Given the description of an element on the screen output the (x, y) to click on. 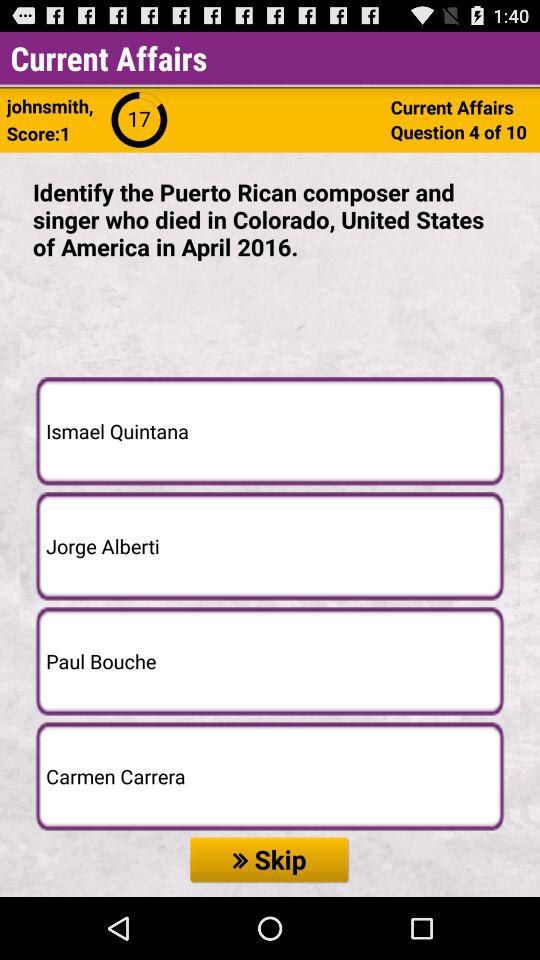
open the icon below identify the puerto (270, 430)
